Given the description of an element on the screen output the (x, y) to click on. 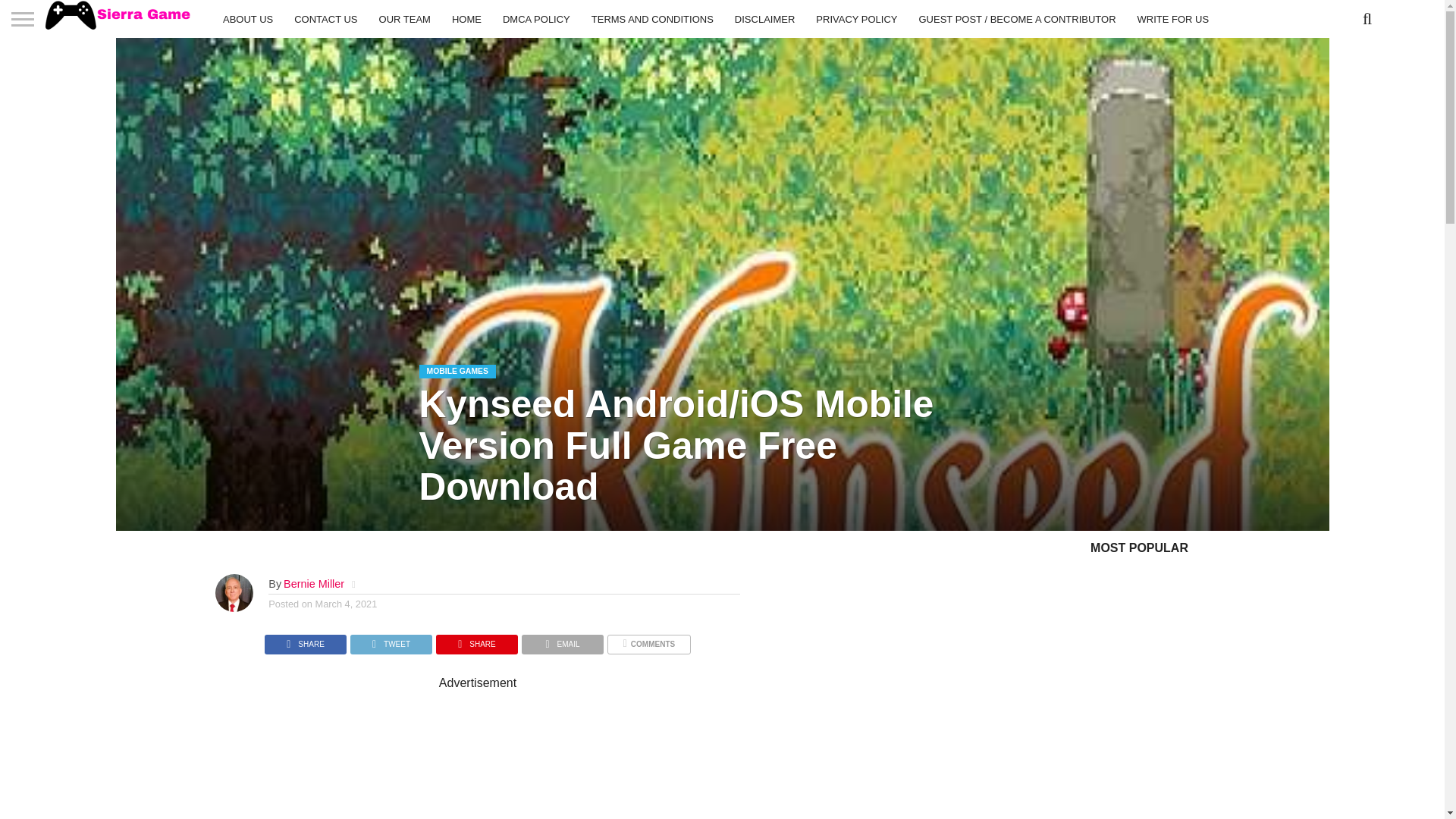
Bernie Miller (313, 583)
SHARE (305, 640)
CONTACT US (325, 18)
DMCA POLICY (536, 18)
PRIVACY POLICY (856, 18)
OUR TEAM (404, 18)
ABOUT US (247, 18)
TWEET (390, 640)
Pin This Post (476, 640)
Share on Facebook (305, 640)
